Given the description of an element on the screen output the (x, y) to click on. 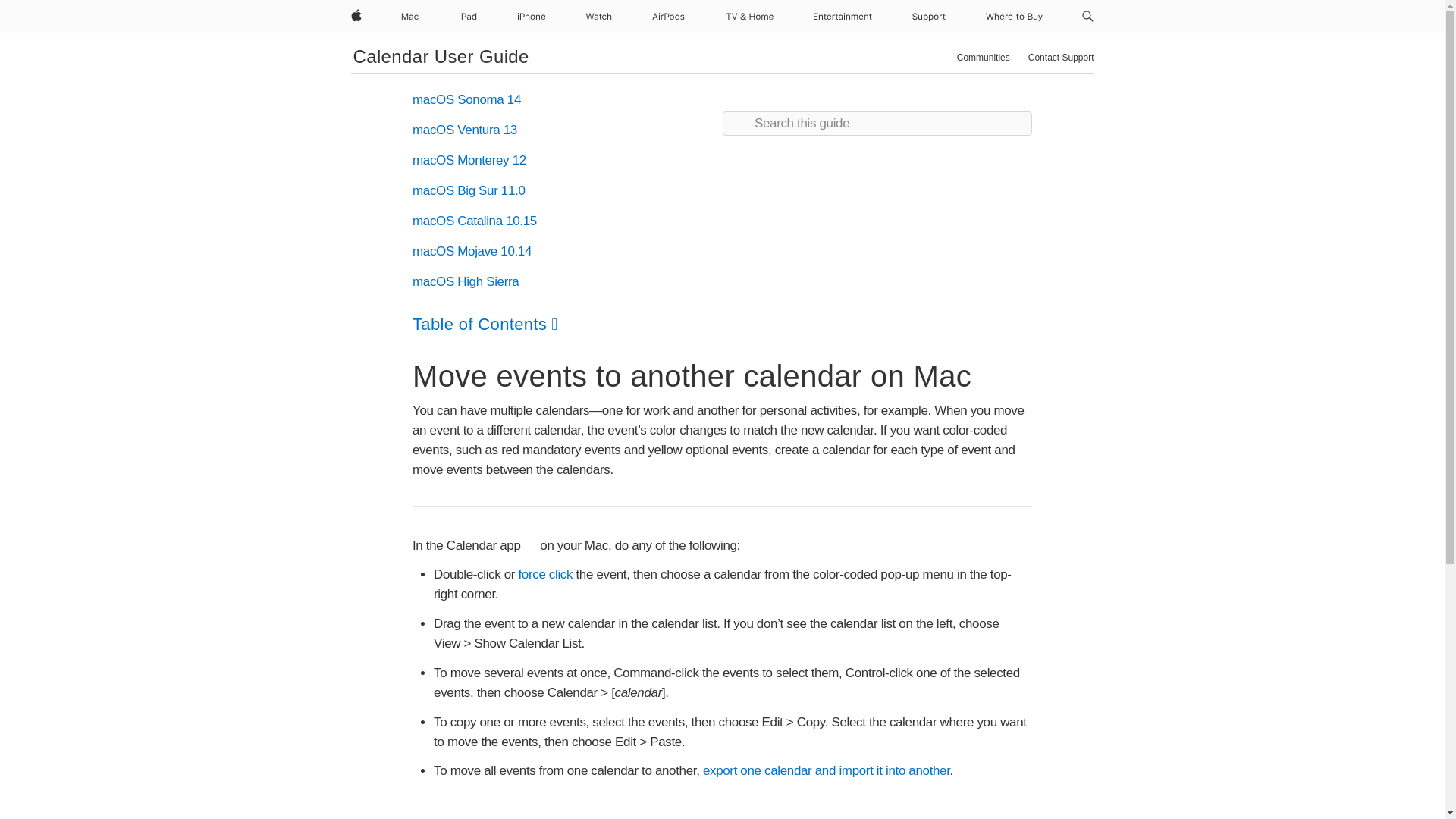
Calendar User Guide (441, 55)
Support (928, 16)
AirPods (668, 16)
Communities (983, 57)
Mac (409, 16)
Apple (354, 16)
macOS High Sierra (465, 281)
iPad (467, 16)
Watch (598, 16)
macOS Big Sur 11.0 (468, 190)
macOS Monterey 12 (468, 160)
Entertainment (842, 16)
iPhone (531, 16)
macOS Catalina 10.15 (474, 220)
macOS Sonoma 14 (466, 99)
